Given the description of an element on the screen output the (x, y) to click on. 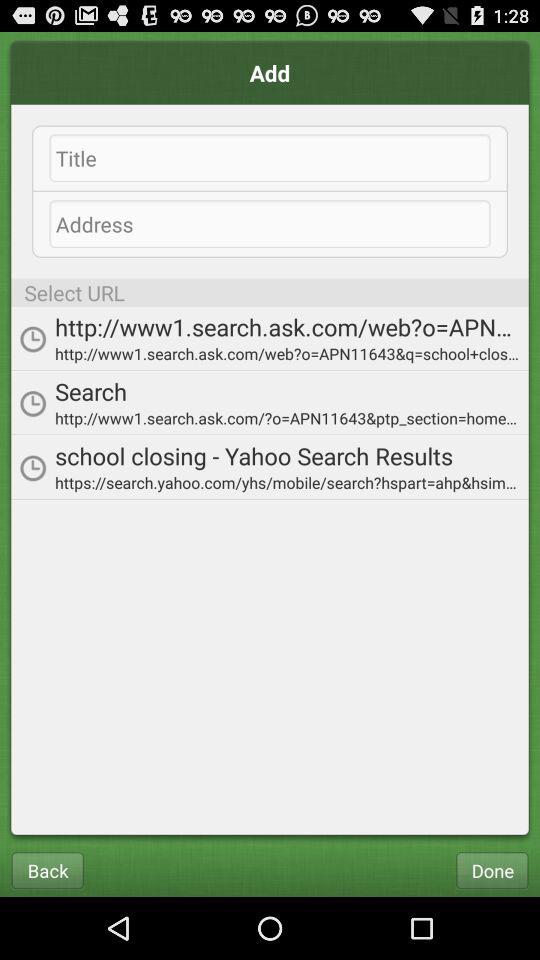
launch back at the bottom left corner (47, 870)
